Given the description of an element on the screen output the (x, y) to click on. 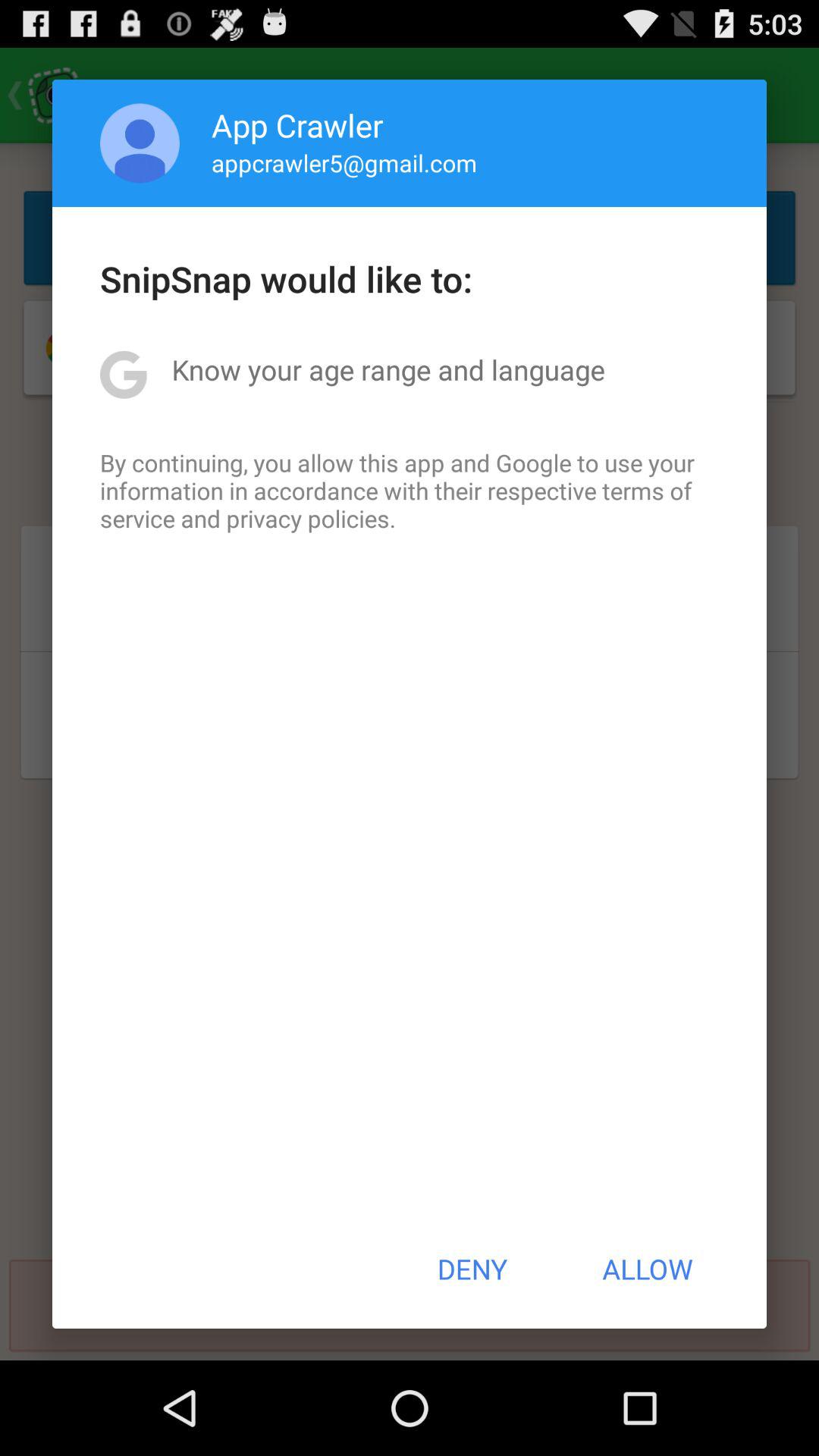
choose the item above snipsnap would like app (139, 143)
